Given the description of an element on the screen output the (x, y) to click on. 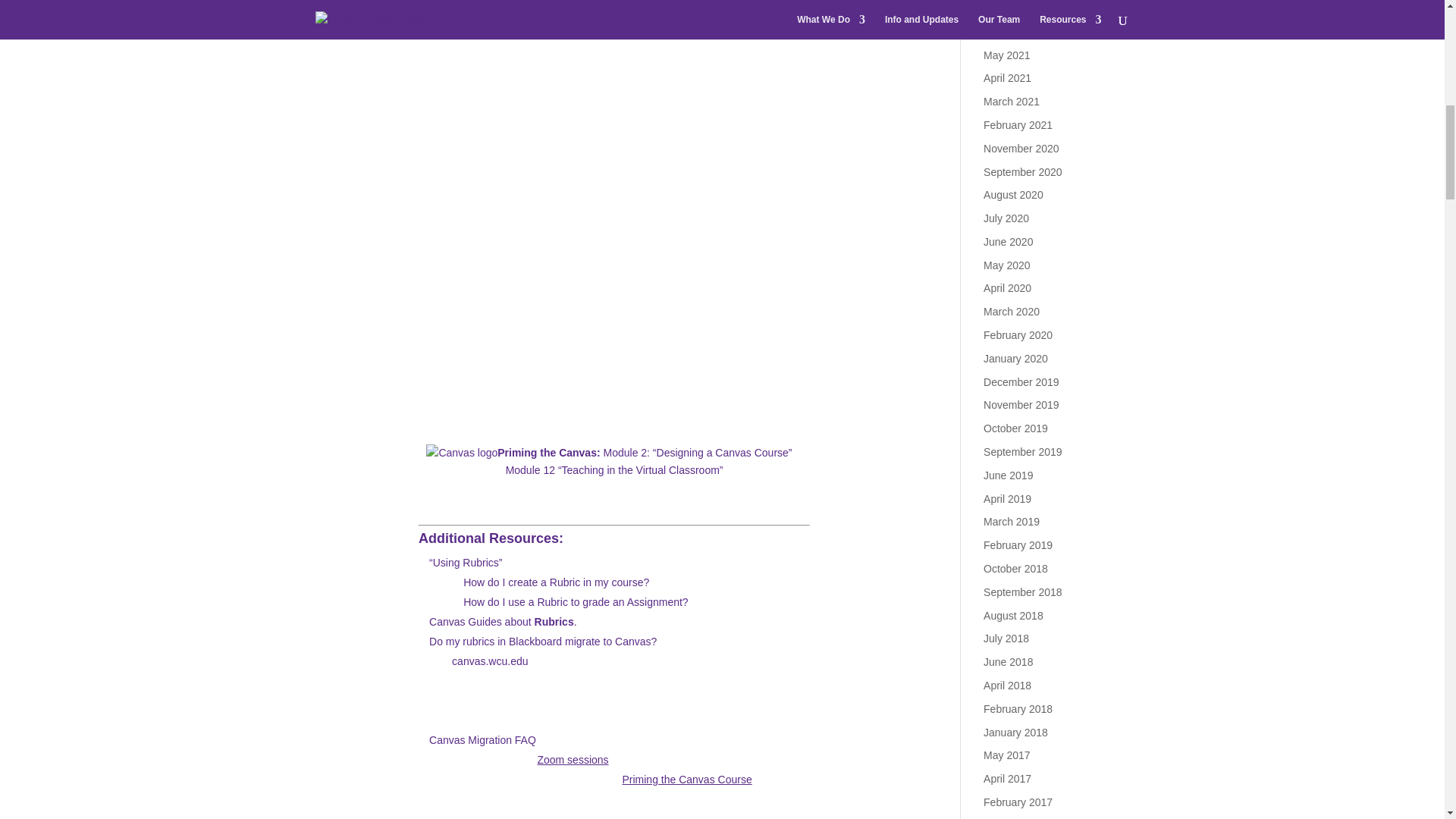
Zoom sessions (572, 759)
Canvas Guides about Rubrics. (502, 621)
Priming the Canvas Course (686, 779)
Do my rubrics in Blackboard migrate to Canvas? (542, 641)
How do I create a Rubric in my course? (556, 582)
canvas.wcu.edu (489, 661)
How do I use a Rubric to grade an Assignment? (575, 602)
Canvas Migration FAQ (482, 739)
